Given the description of an element on the screen output the (x, y) to click on. 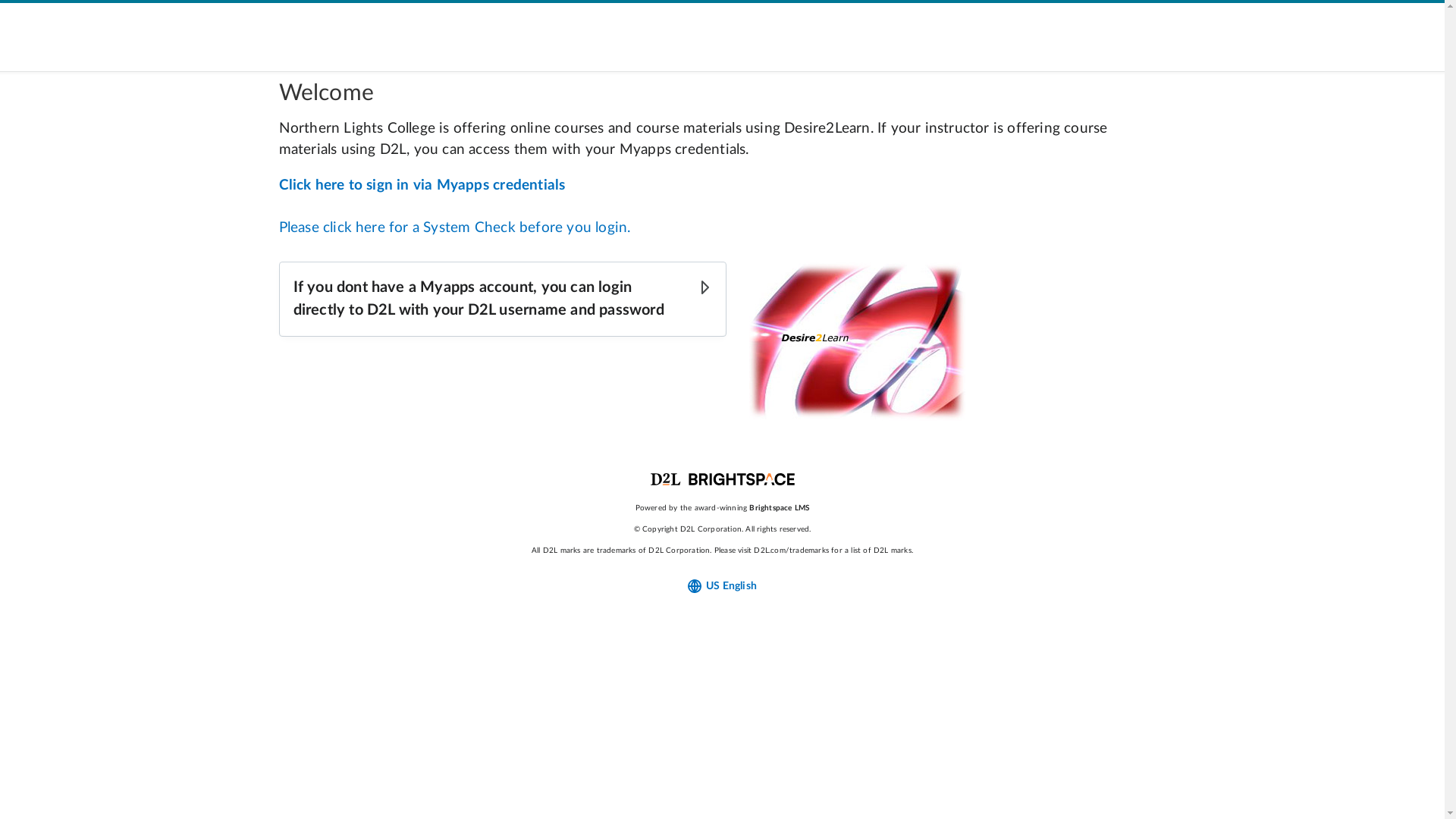
Powered by Brightspace Element type: hover (722, 479)
Brightspace Element type: text (770, 507)
LMS Element type: text (801, 507)
